Given the description of an element on the screen output the (x, y) to click on. 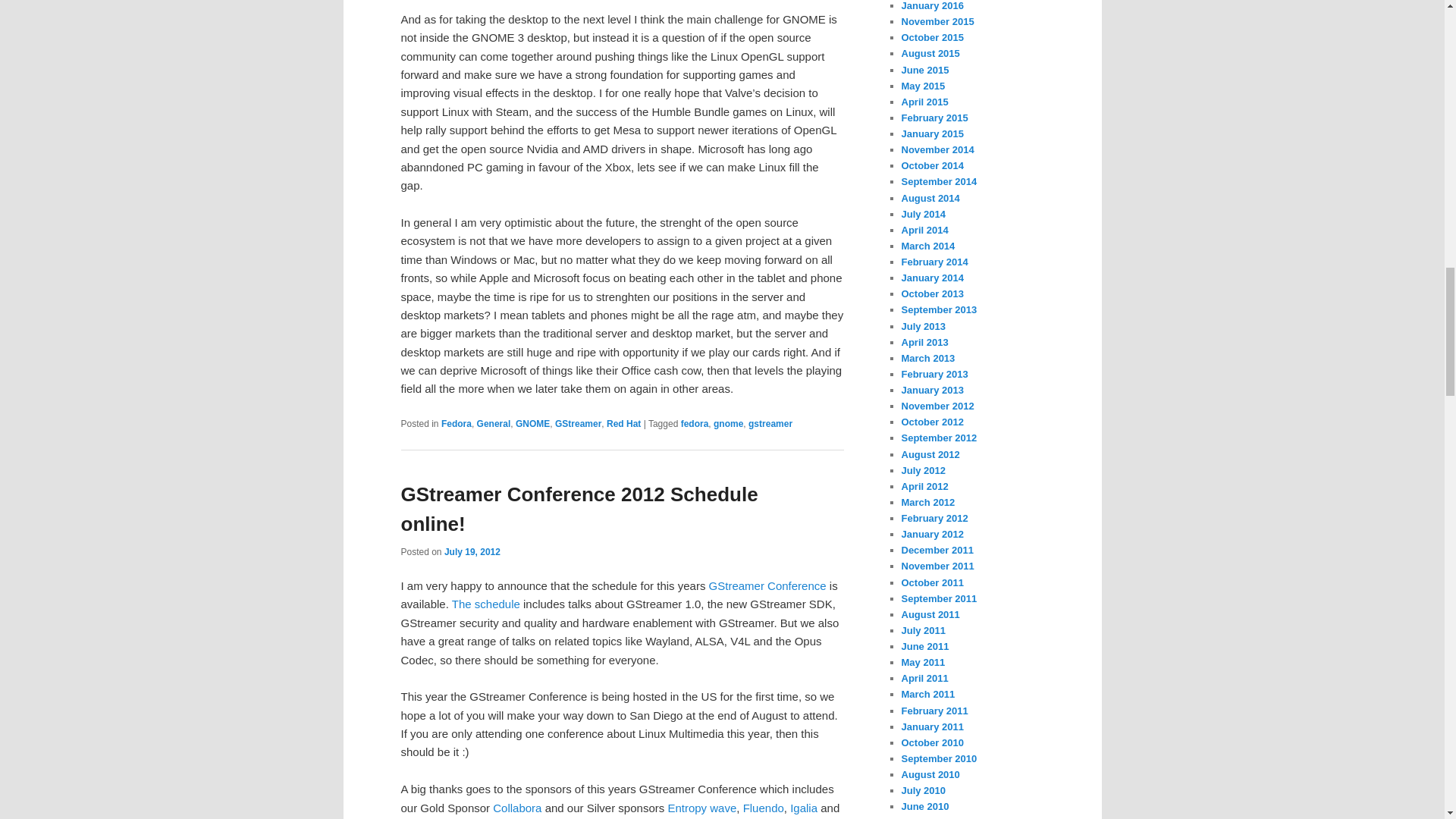
Fedora (456, 423)
17:28 (472, 552)
GStreamer Conference (768, 585)
Igalia (803, 807)
General (494, 423)
Entropy wave (701, 807)
GStreamer (577, 423)
Fluendo (763, 807)
Red Hat (623, 423)
The schedule (485, 603)
Collabora (517, 807)
GNOME (532, 423)
gstreamer (770, 423)
GStreamer Conference 2012 Schedule online! (578, 509)
July 19, 2012 (472, 552)
